Given the description of an element on the screen output the (x, y) to click on. 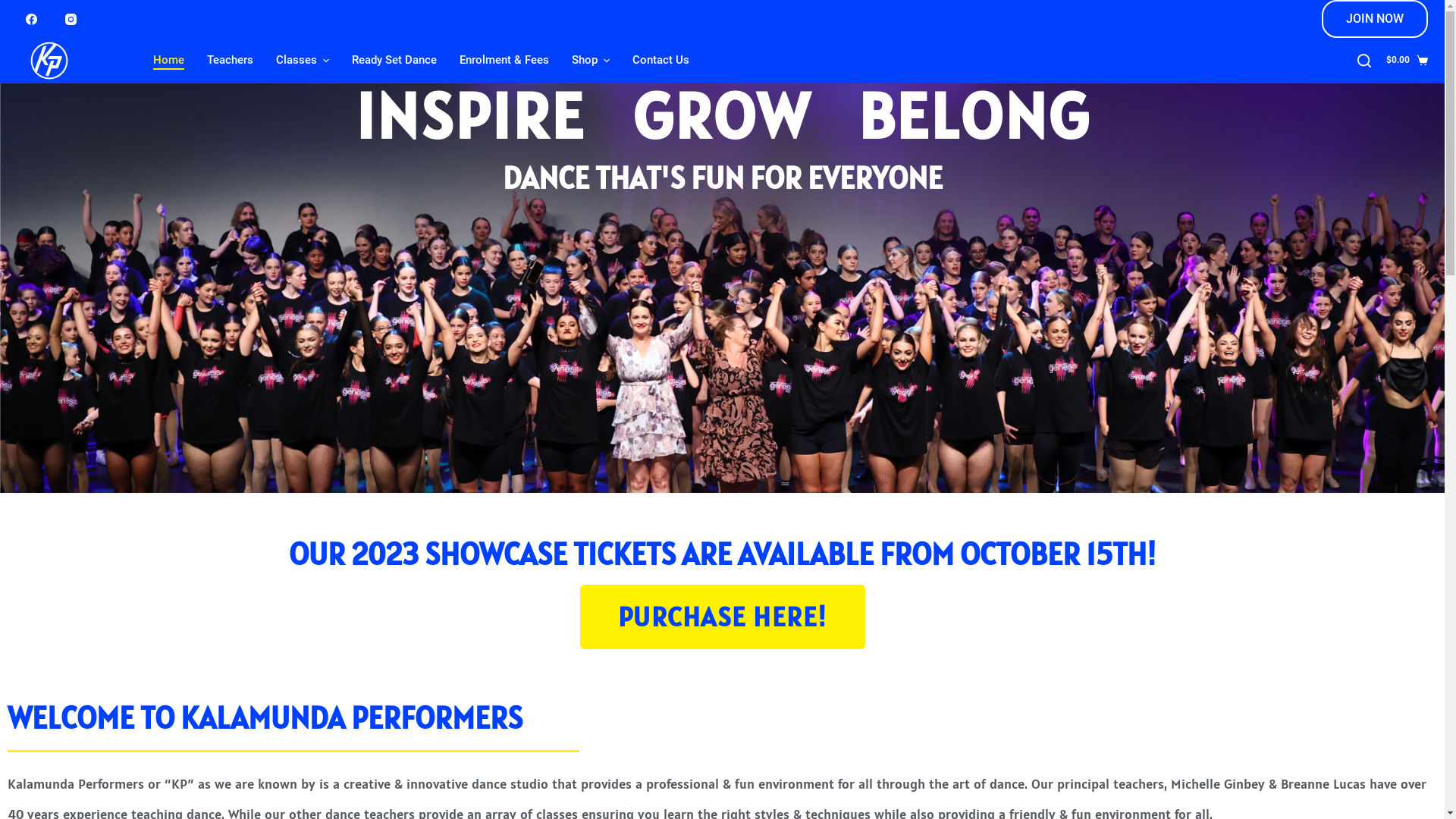
Contact Us Element type: text (660, 60)
Shop Element type: text (590, 60)
Teachers Element type: text (229, 60)
JOIN NOW Element type: text (1374, 18)
Enrolment & Fees Element type: text (504, 60)
Ready Set Dance Element type: text (394, 60)
Classes Element type: text (302, 60)
$0.00 Element type: text (1406, 60)
Home Element type: text (168, 60)
Skip to content Element type: text (15, 7)
PURCHASE HERE! Element type: text (721, 616)
